Given the description of an element on the screen output the (x, y) to click on. 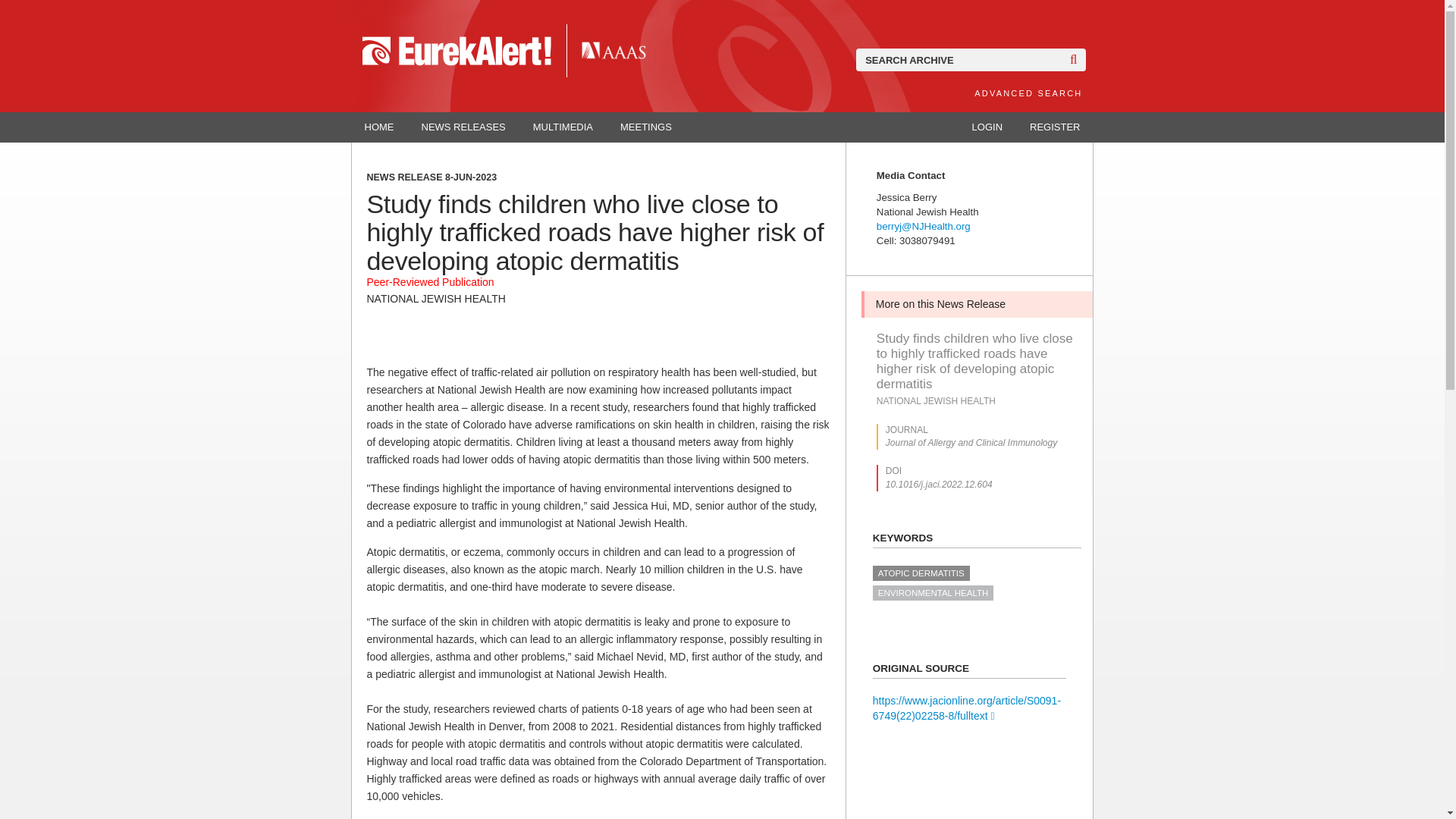
MULTIMEDIA (563, 127)
MEETINGS (646, 127)
ENVIRONMENTAL HEALTH (932, 592)
HOME (378, 127)
NEWS RELEASES (463, 127)
ATOPIC DERMATITIS (920, 572)
REGISTER (1054, 127)
Peer-Reviewed Publication (430, 282)
ADVANCED SEARCH (1027, 92)
